Given the description of an element on the screen output the (x, y) to click on. 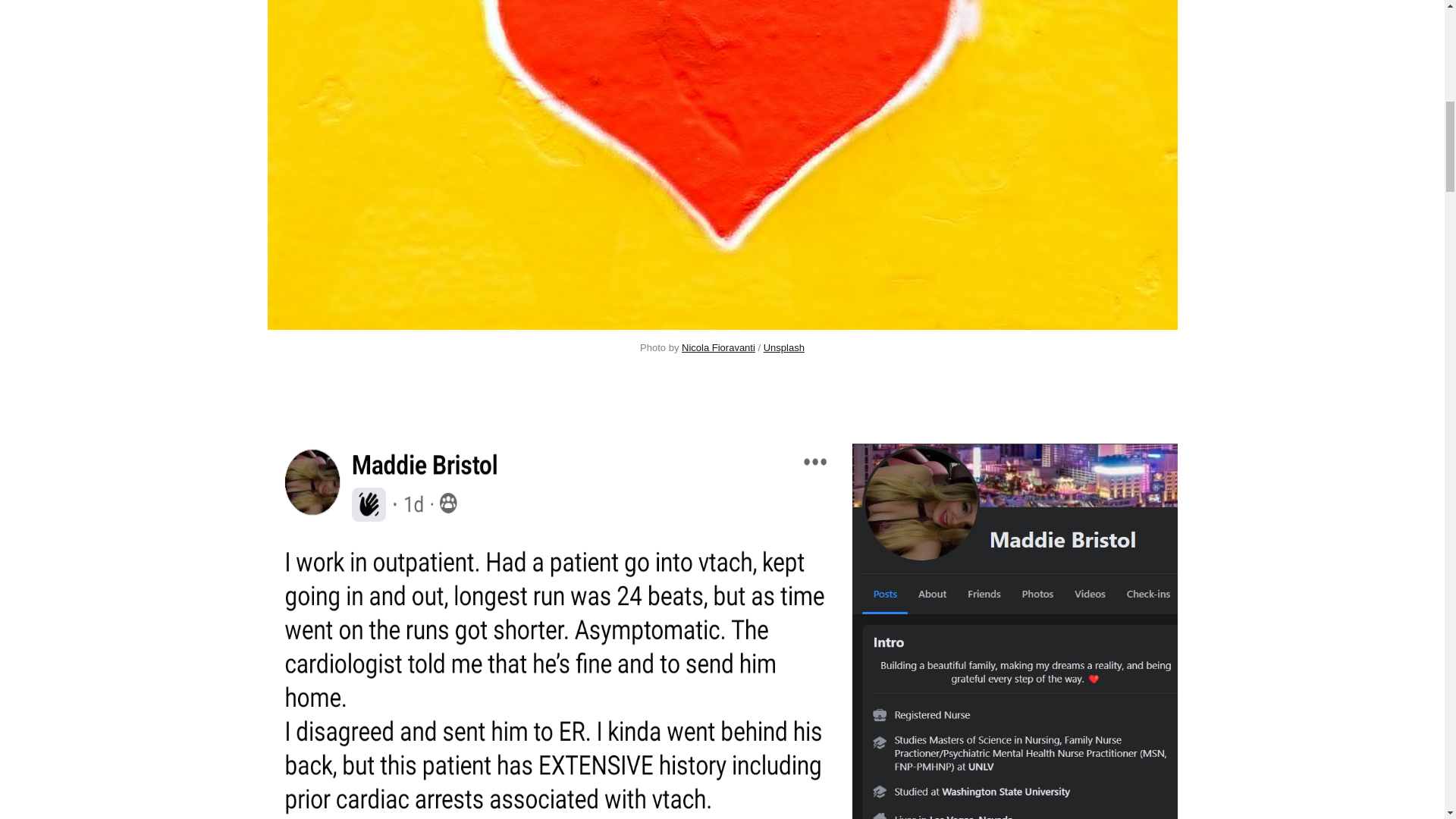
Unsplash (783, 347)
Nicola Fioravanti (718, 347)
